Given the description of an element on the screen output the (x, y) to click on. 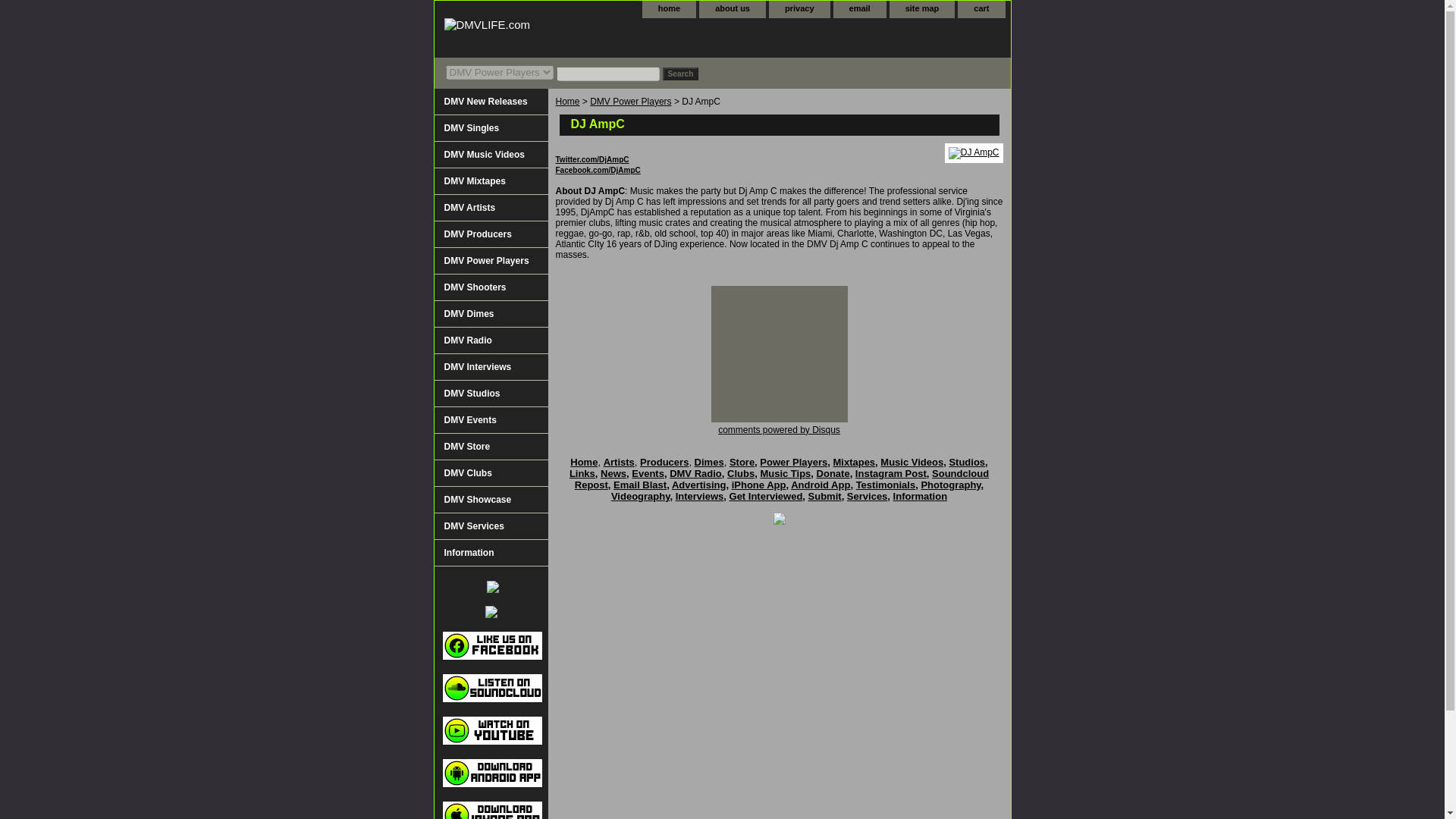
DMV Radio (695, 473)
iPhone App (759, 484)
Artists (619, 461)
Power Players (793, 461)
Clubs (740, 473)
Information (490, 552)
Producers (664, 461)
DMV Dimes (490, 314)
DMV Store (490, 447)
DMV Showcase (490, 499)
DMV Singles (490, 128)
DMV Events (490, 420)
News (612, 473)
DMV Music Videos (490, 154)
DMV Services (490, 526)
